Given the description of an element on the screen output the (x, y) to click on. 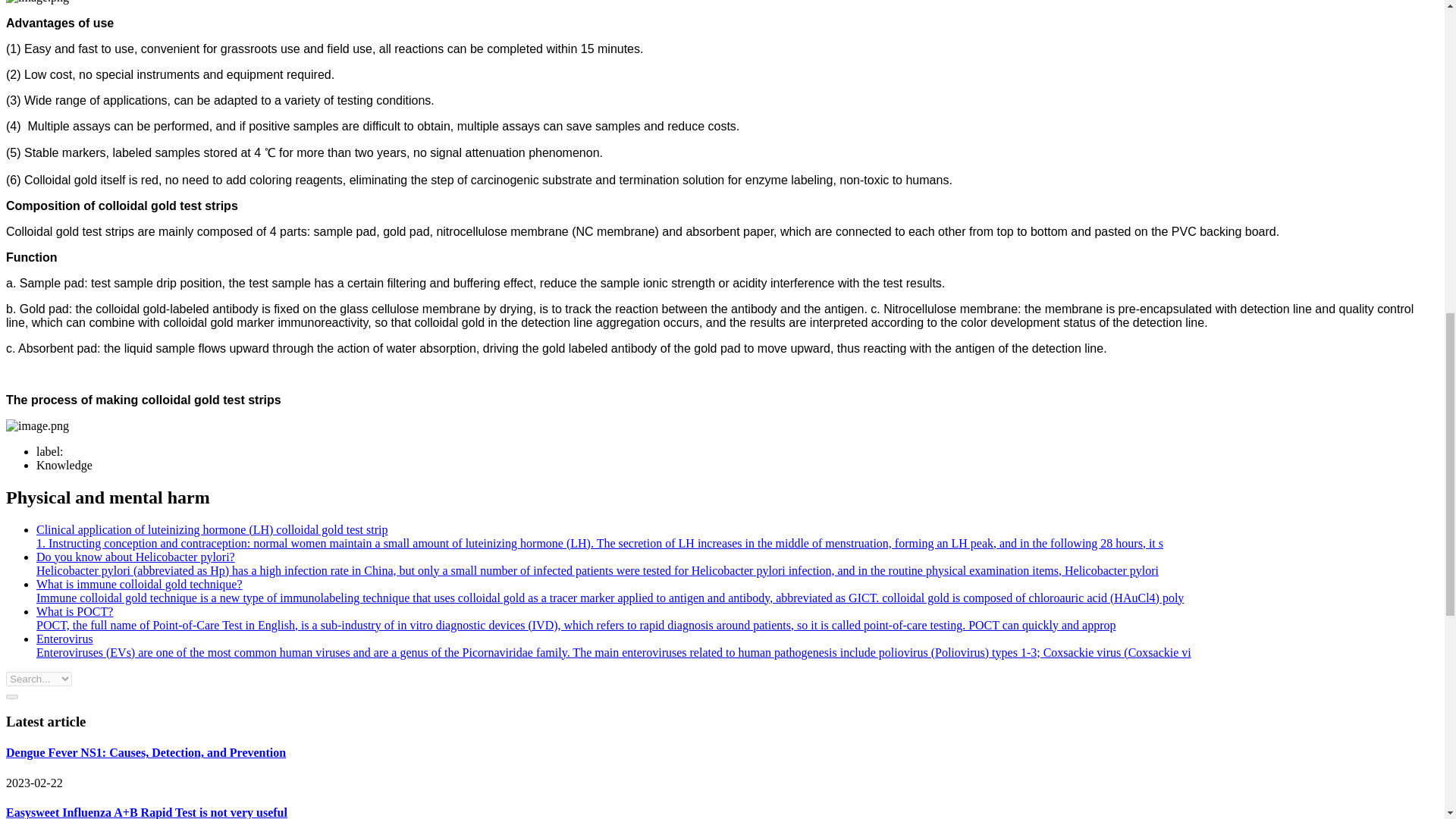
1646309090727792.png (36, 426)
1646309070615096.png (36, 2)
Dengue Fever NS1: Causes, Detection, and Prevention (145, 752)
